Given the description of an element on the screen output the (x, y) to click on. 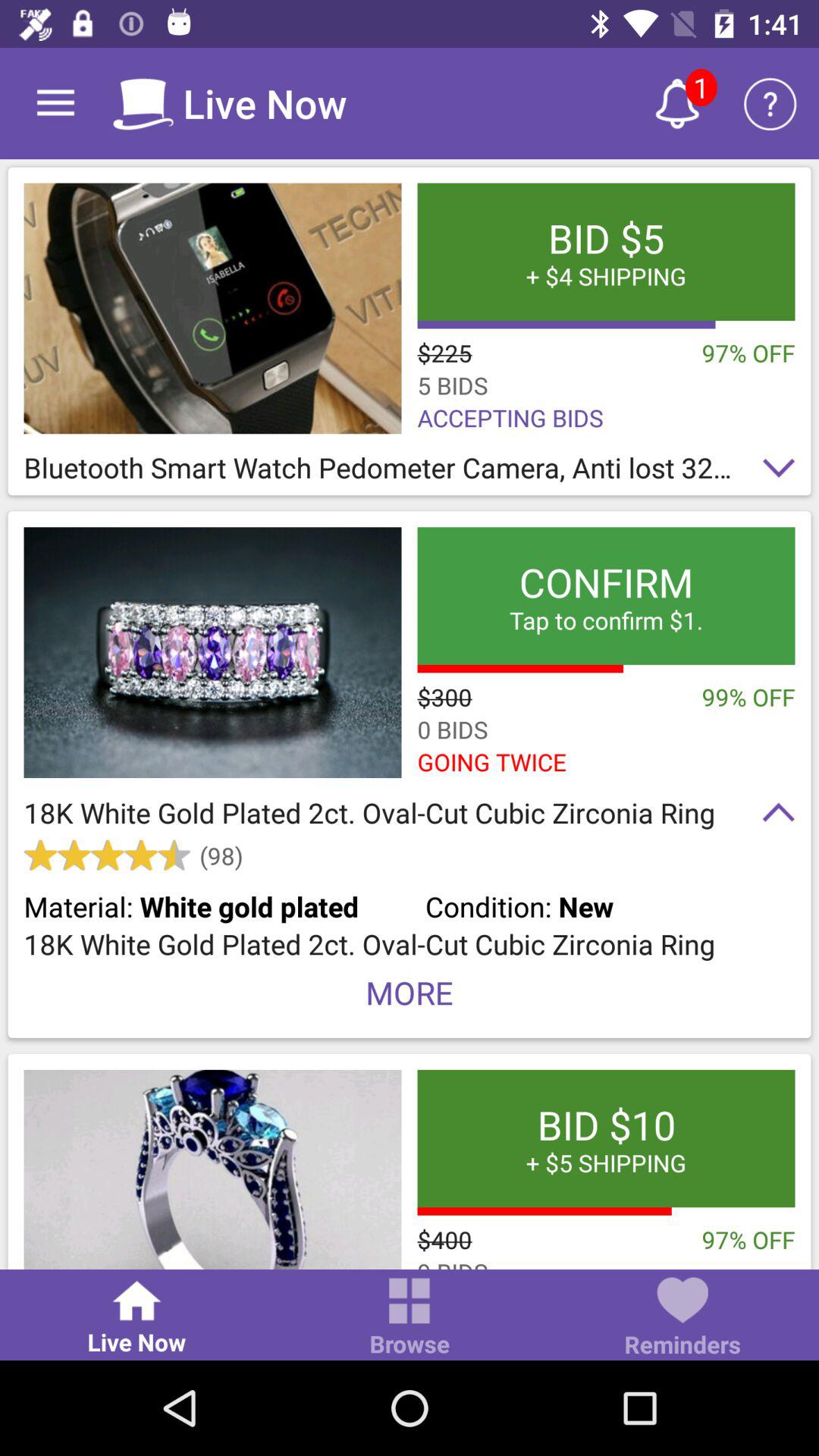
photo of ring link to item for sale (212, 1169)
